Given the description of an element on the screen output the (x, y) to click on. 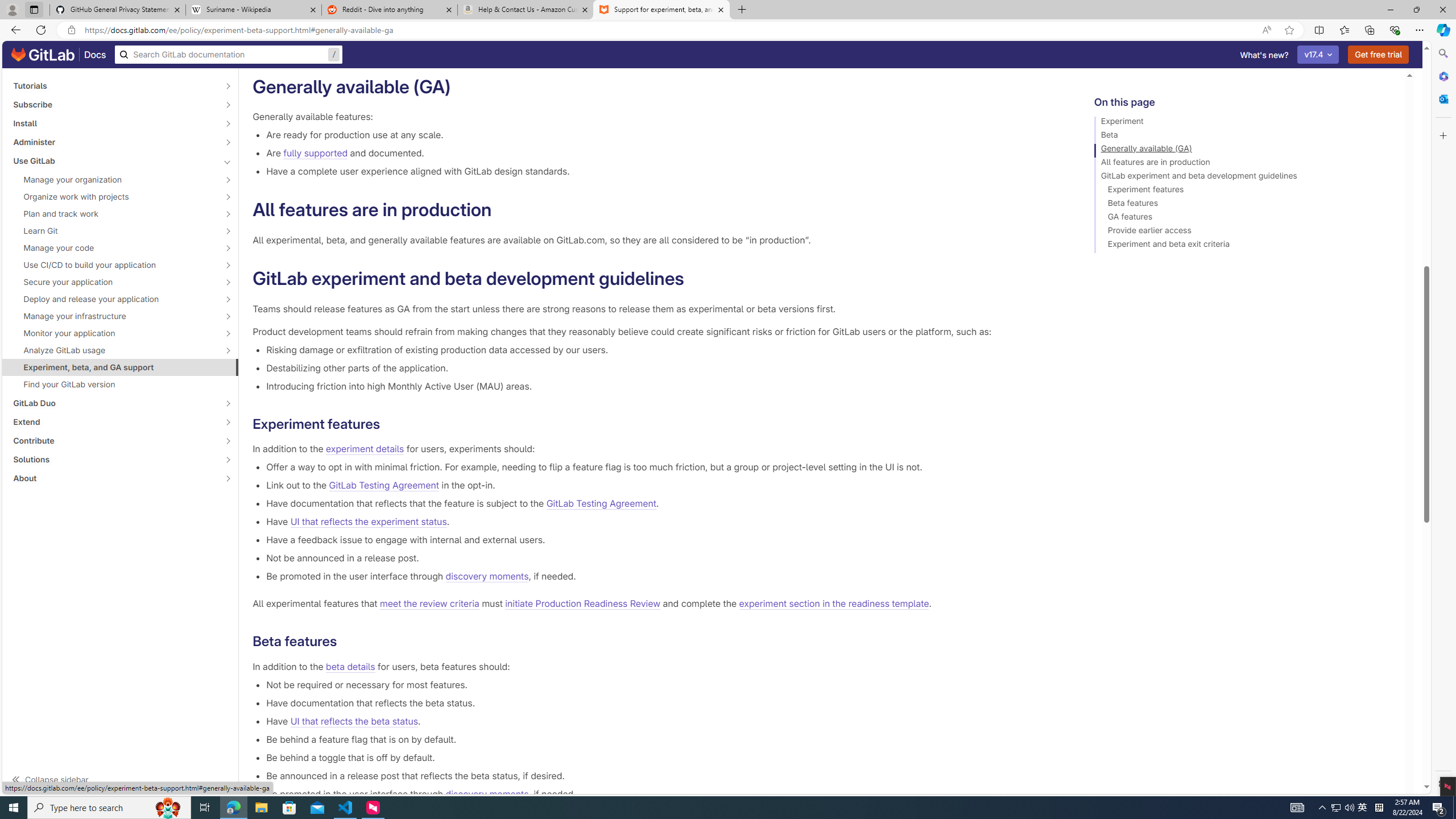
Contribute (113, 440)
experiment section in the readiness template (833, 603)
GitLab documentation home Docs (58, 53)
UI that reflects the beta status (353, 720)
Are ready for production use at any scale. (662, 134)
Deploy and release your application (113, 298)
fully supported (315, 153)
Experiment features (1244, 191)
Provide earlier access (1244, 232)
Be behind a feature flag that is on by default. (662, 739)
